Given the description of an element on the screen output the (x, y) to click on. 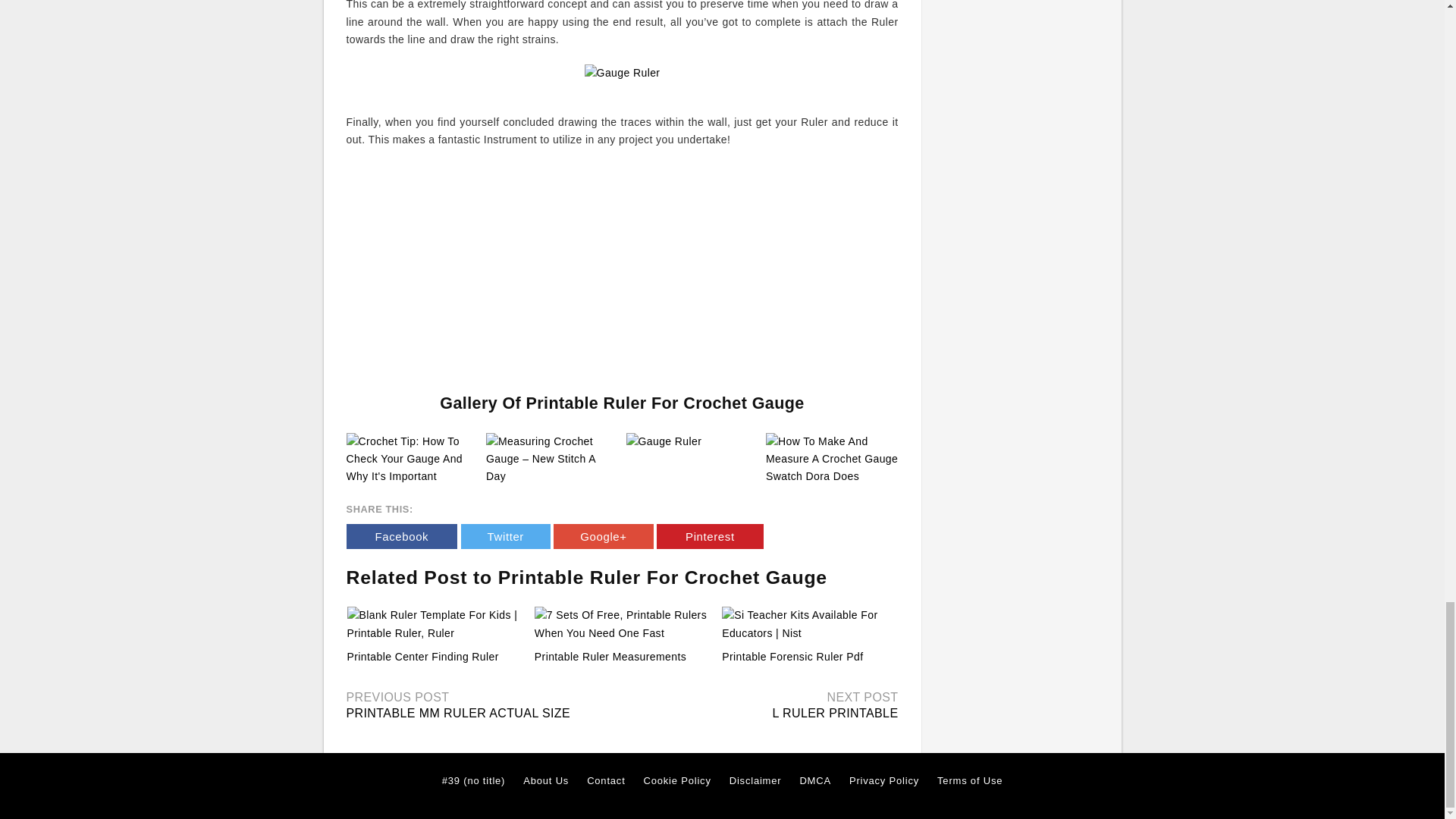
Crochet Tip: How To Check Your Gauge And Why It's Important (412, 458)
PRINTABLE MM RULER ACTUAL SIZE (458, 712)
Gauge Ruler (663, 440)
Printable Center Finding Ruler (423, 656)
Printable Center Finding Ruler (423, 656)
Twitter (505, 536)
Crochet Tip: How To Check Your Gauge And Why It's Important (412, 459)
How To Make And Measure A Crochet Gauge Swatch   Dora Does (831, 459)
Gauge Ruler (663, 441)
Printable Center Finding Ruler (434, 624)
